Given the description of an element on the screen output the (x, y) to click on. 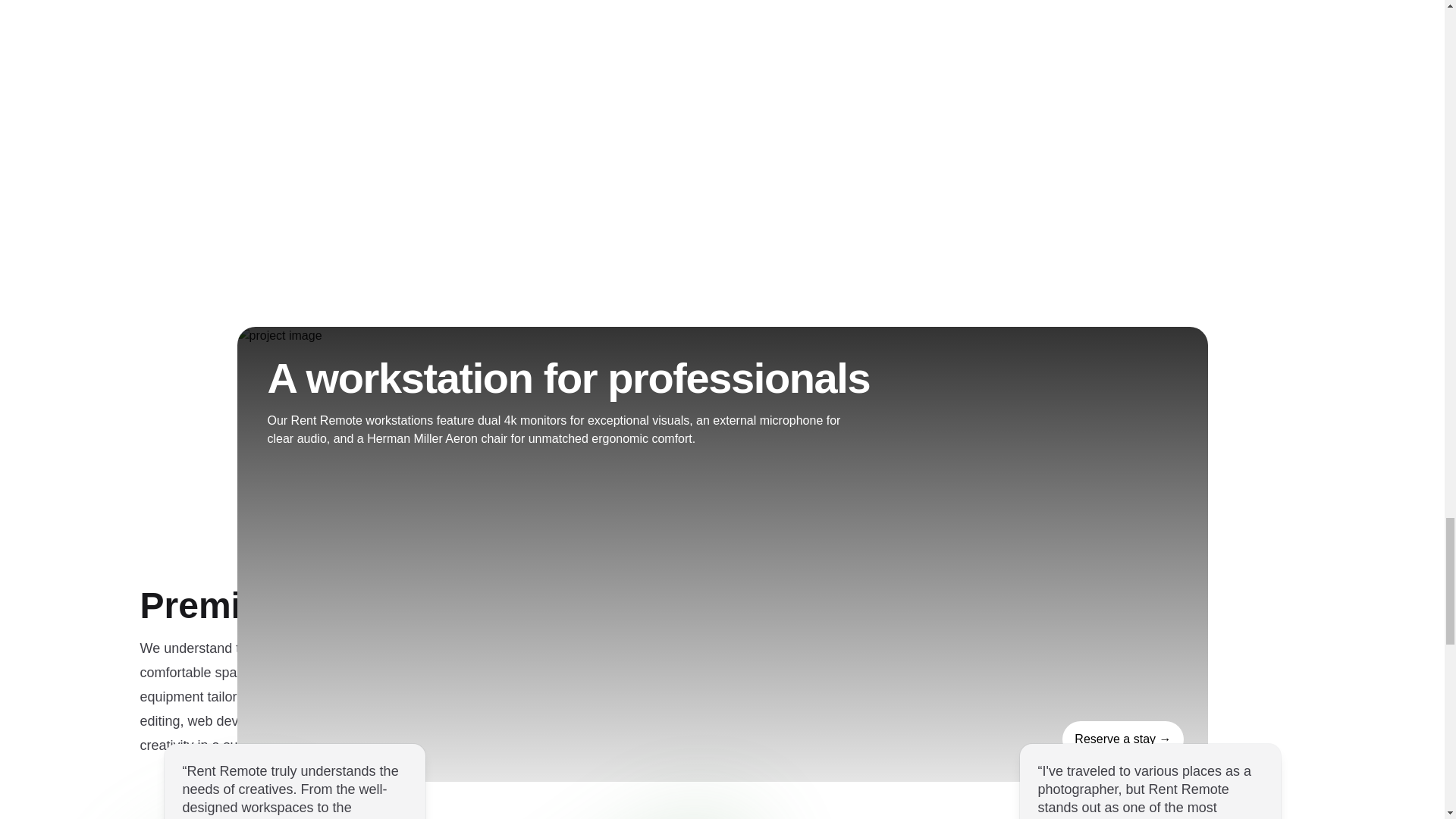
See Properties (1122, 739)
